Given the description of an element on the screen output the (x, y) to click on. 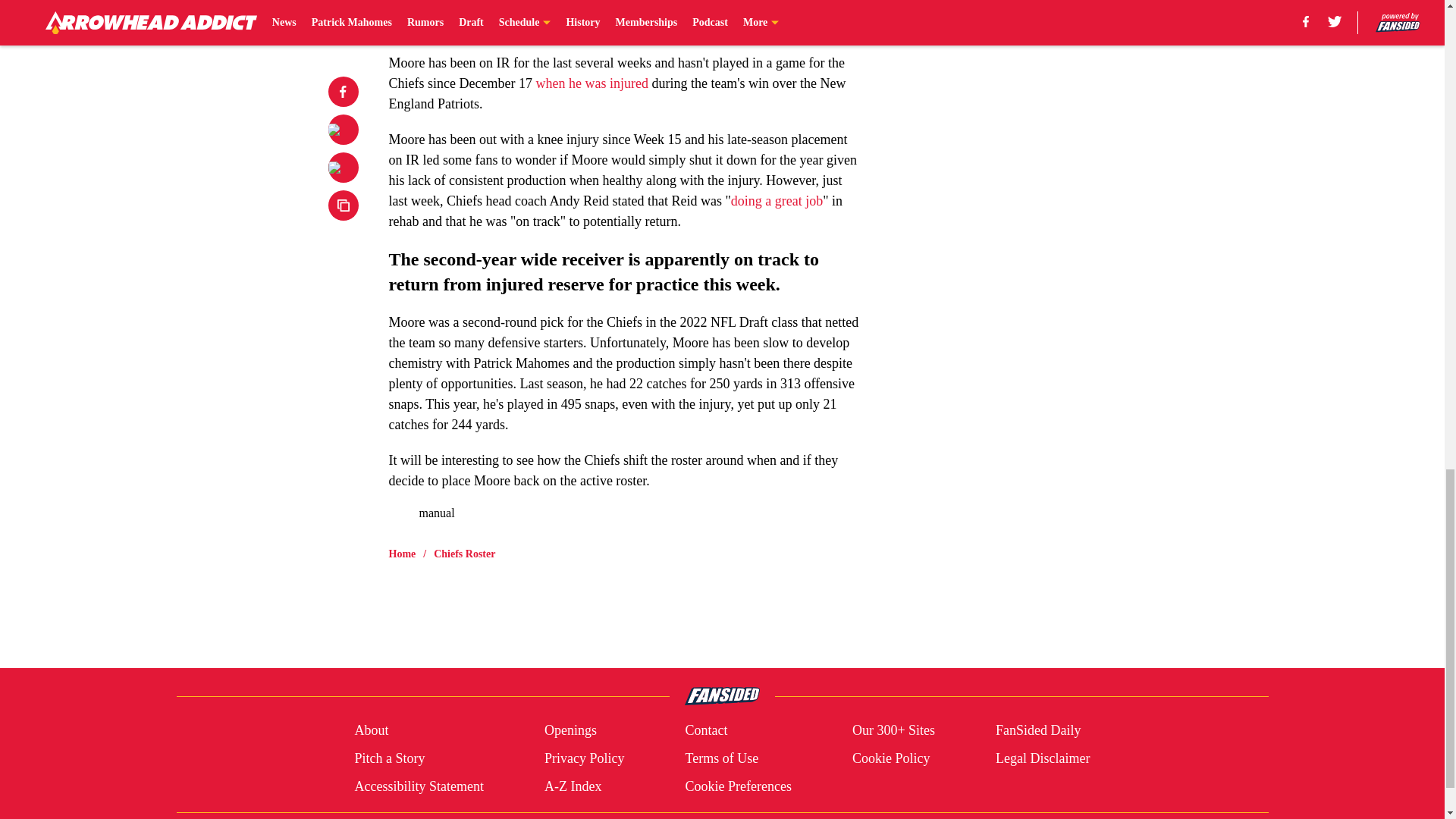
Home (401, 554)
Cookie Policy (890, 758)
doing a great job (776, 200)
Terms of Use (721, 758)
FanSided Daily (1038, 730)
Chiefs Roster (464, 554)
when he was injured (591, 83)
Privacy Policy (584, 758)
About (370, 730)
Contact (705, 730)
